Given the description of an element on the screen output the (x, y) to click on. 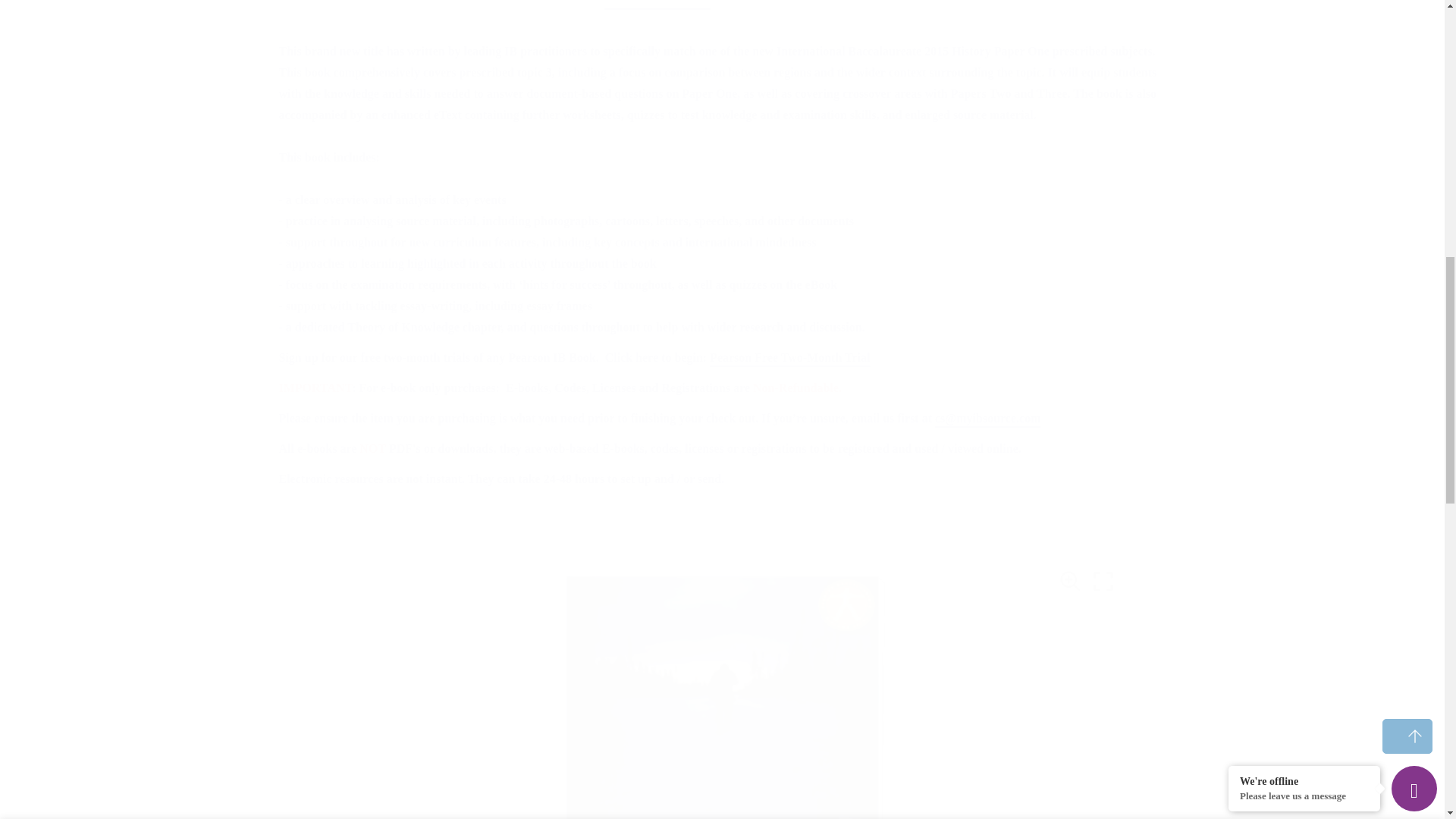
1 (994, 28)
